Given the description of an element on the screen output the (x, y) to click on. 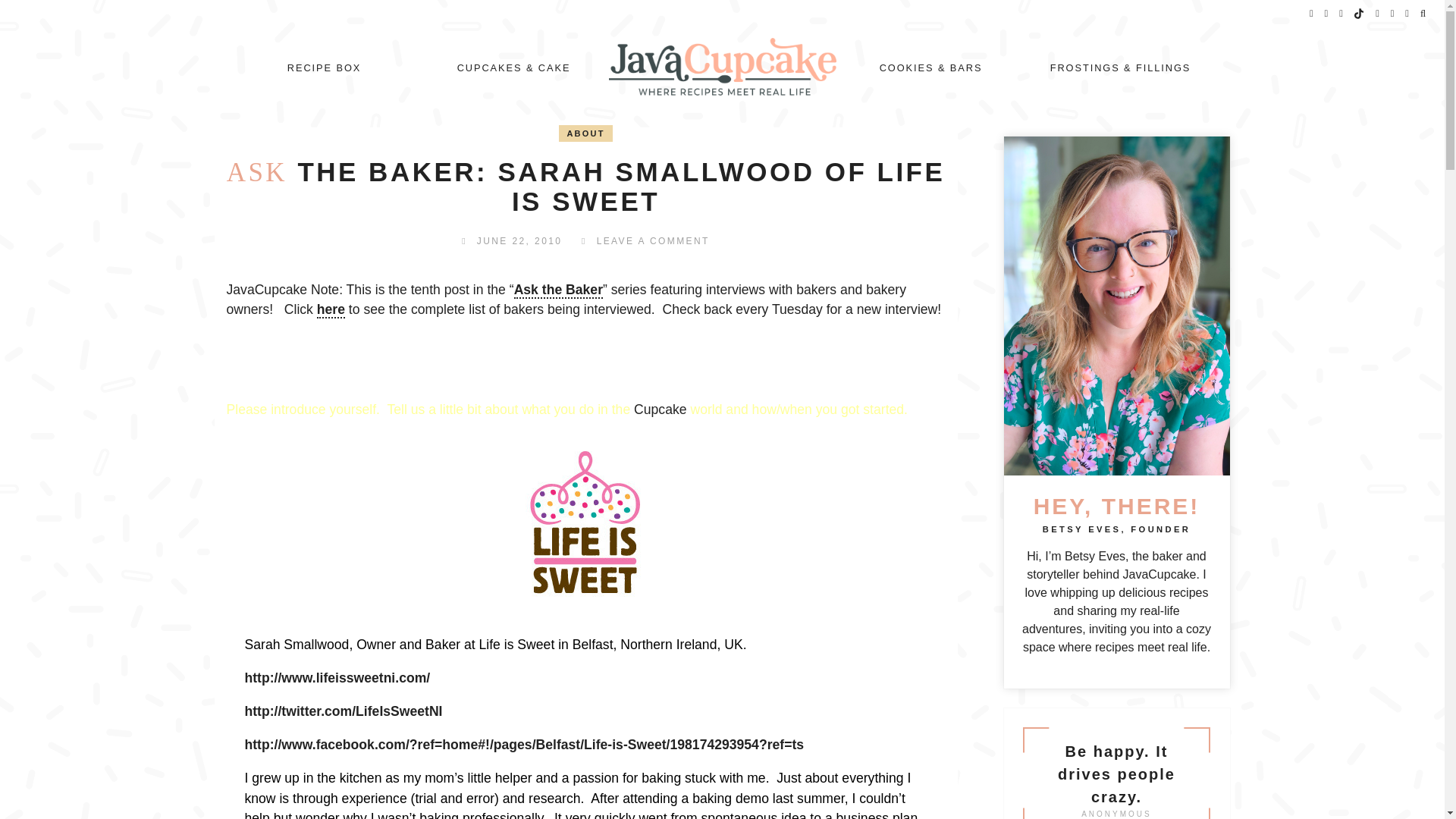
here (331, 310)
ABOUT (585, 133)
RECIPE BOX (323, 67)
Cupcake (659, 409)
LEAVE A COMMENT (653, 240)
JUNE 22, 2010 (519, 240)
tiktok icon (1359, 13)
Ask the Baker (557, 289)
